Given the description of an element on the screen output the (x, y) to click on. 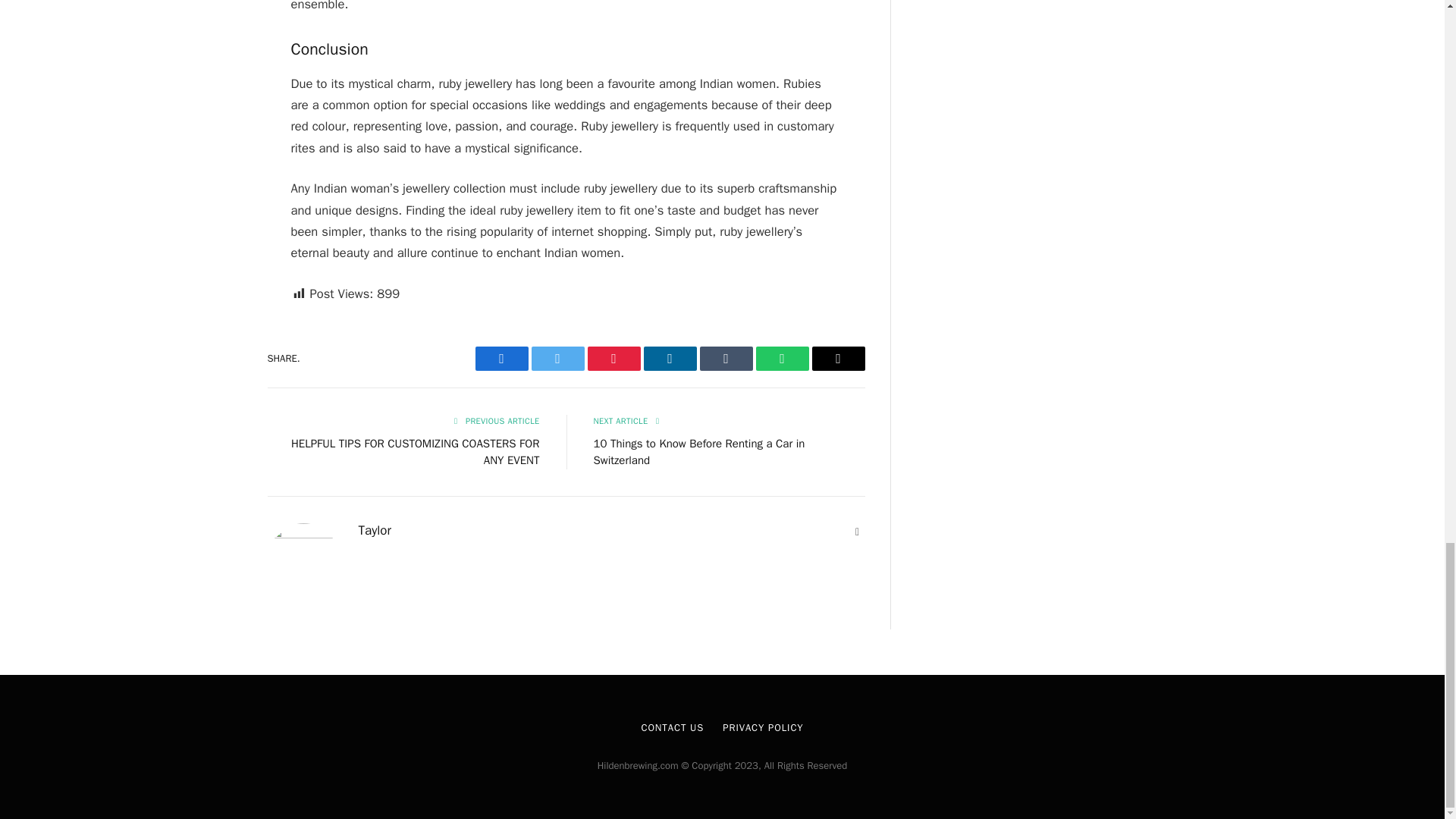
Facebook (500, 358)
